Given the description of an element on the screen output the (x, y) to click on. 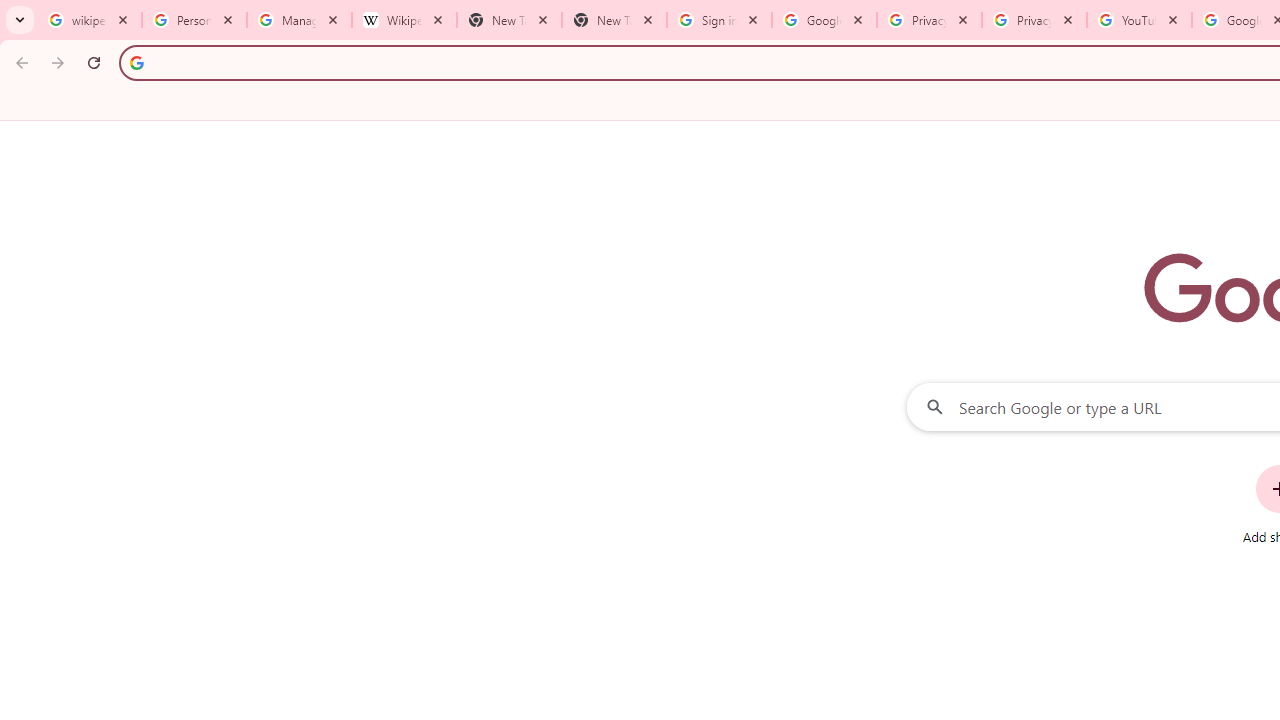
New Tab (613, 20)
